Given the description of an element on the screen output the (x, y) to click on. 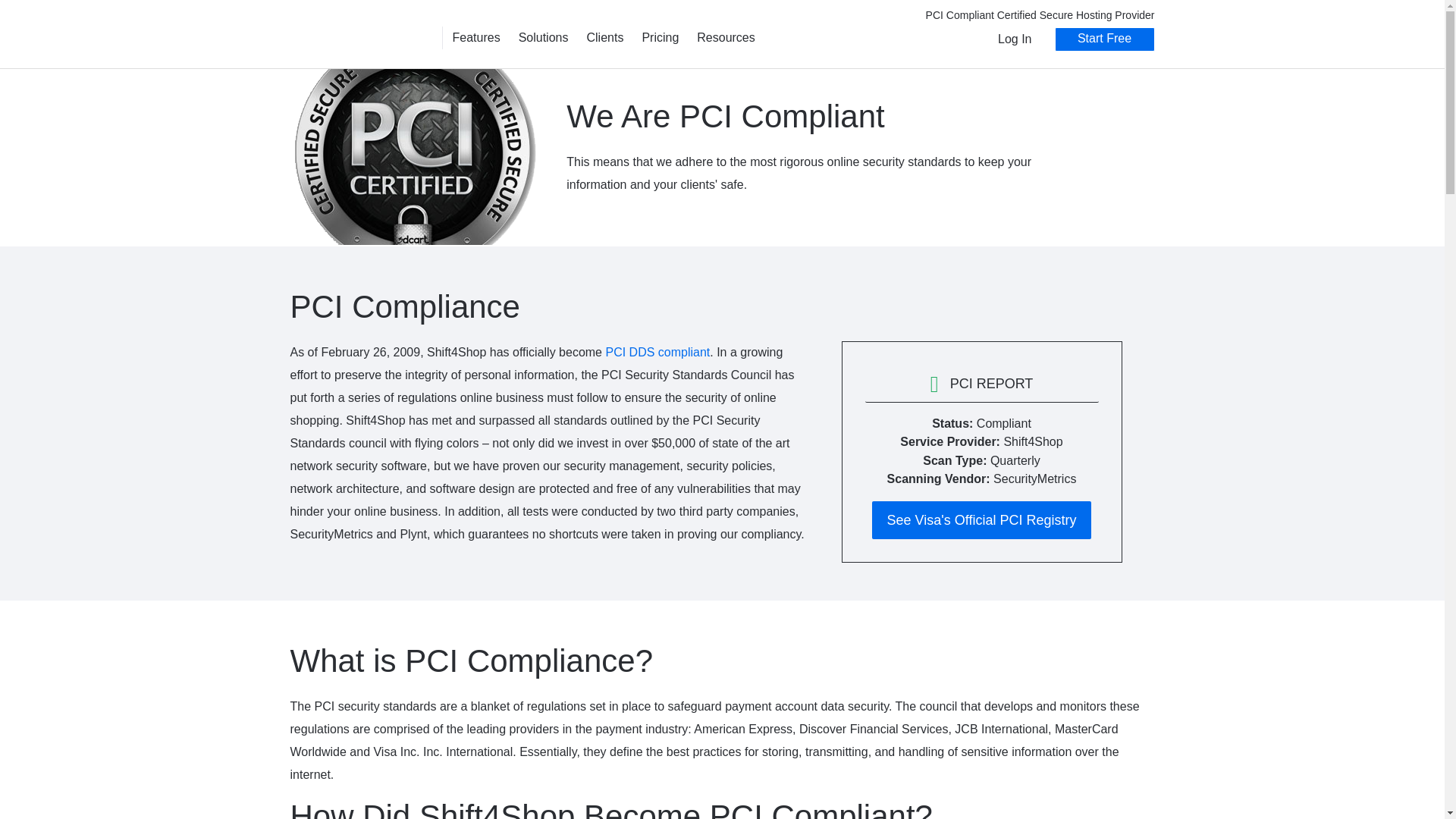
PCI DDS compliant (657, 351)
Start Free (1104, 39)
Solutions (543, 35)
Clients (603, 35)
Log In (1013, 38)
Features (475, 35)
See Visa's Official PCI Registry (982, 519)
Pricing (659, 35)
ecommerce software (361, 37)
Resources (724, 35)
